Given the description of an element on the screen output the (x, y) to click on. 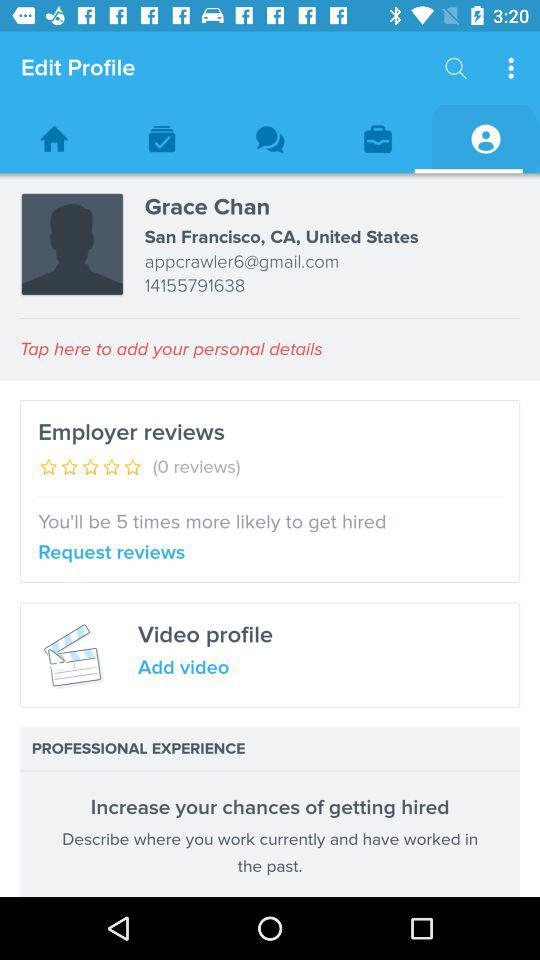
turn off the icon next to the edit profile item (455, 67)
